Given the description of an element on the screen output the (x, y) to click on. 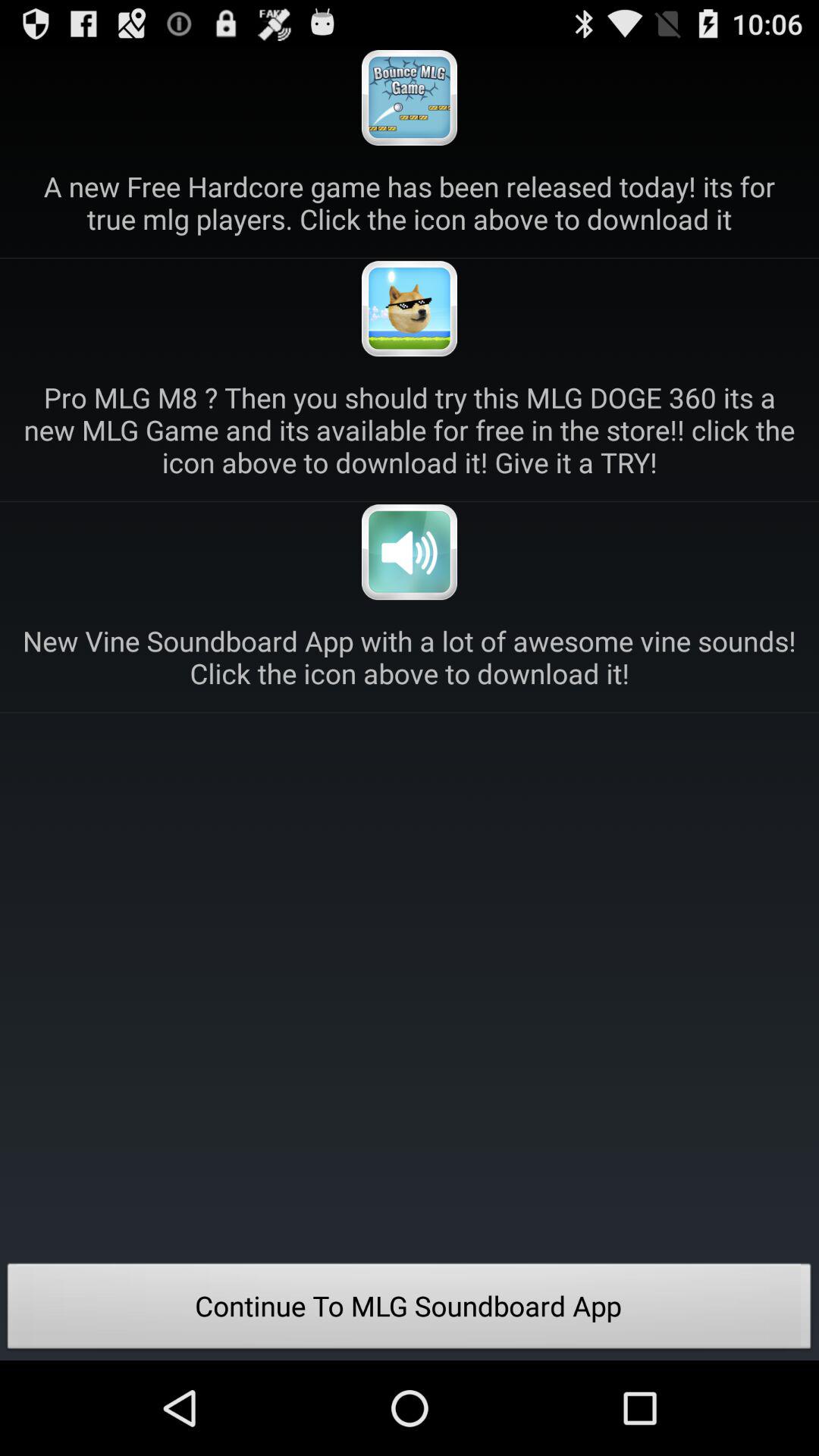
download new vine sounds (409, 552)
